Given the description of an element on the screen output the (x, y) to click on. 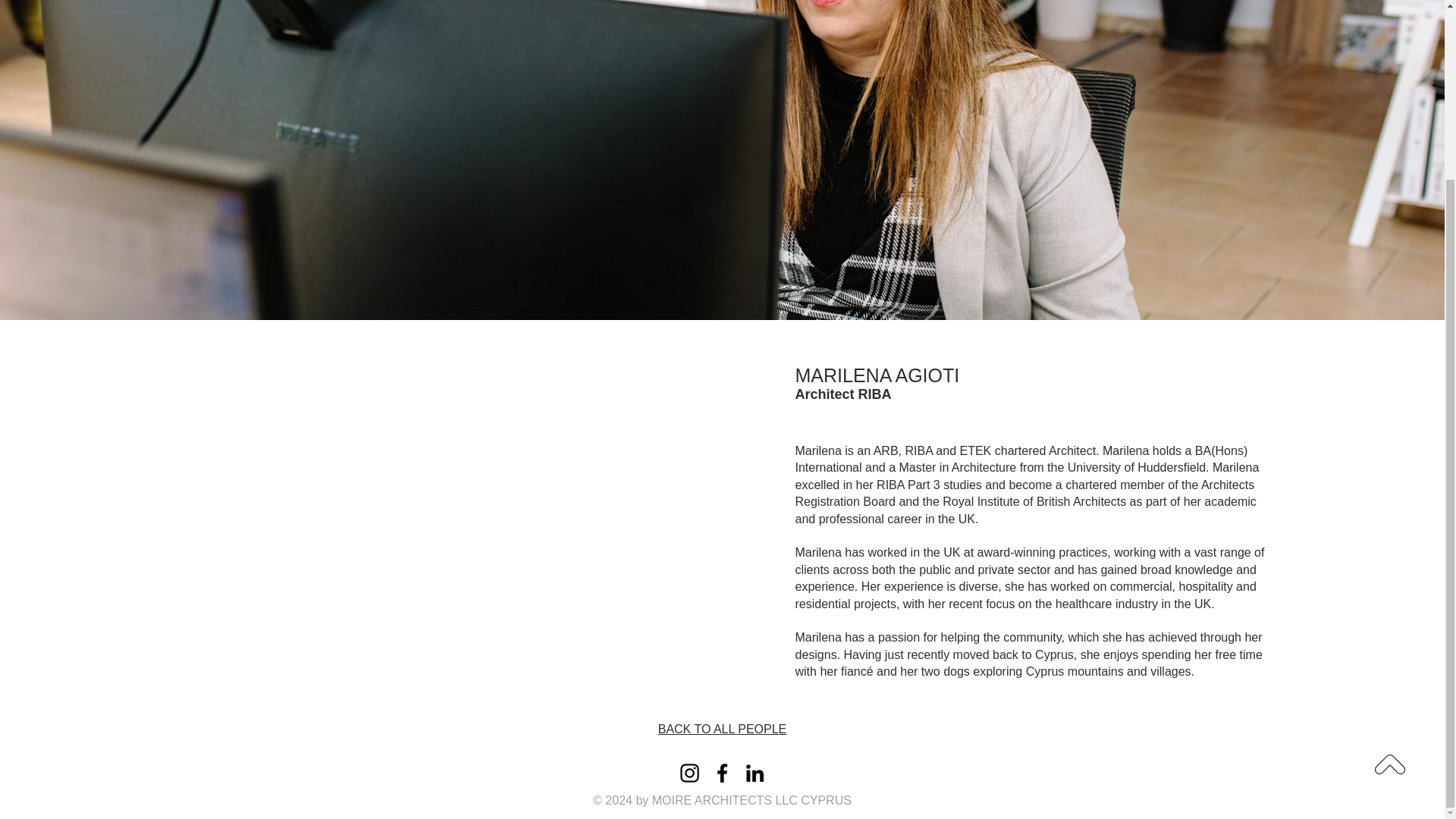
BACK TO ALL PEOPLE (722, 728)
